Given the description of an element on the screen output the (x, y) to click on. 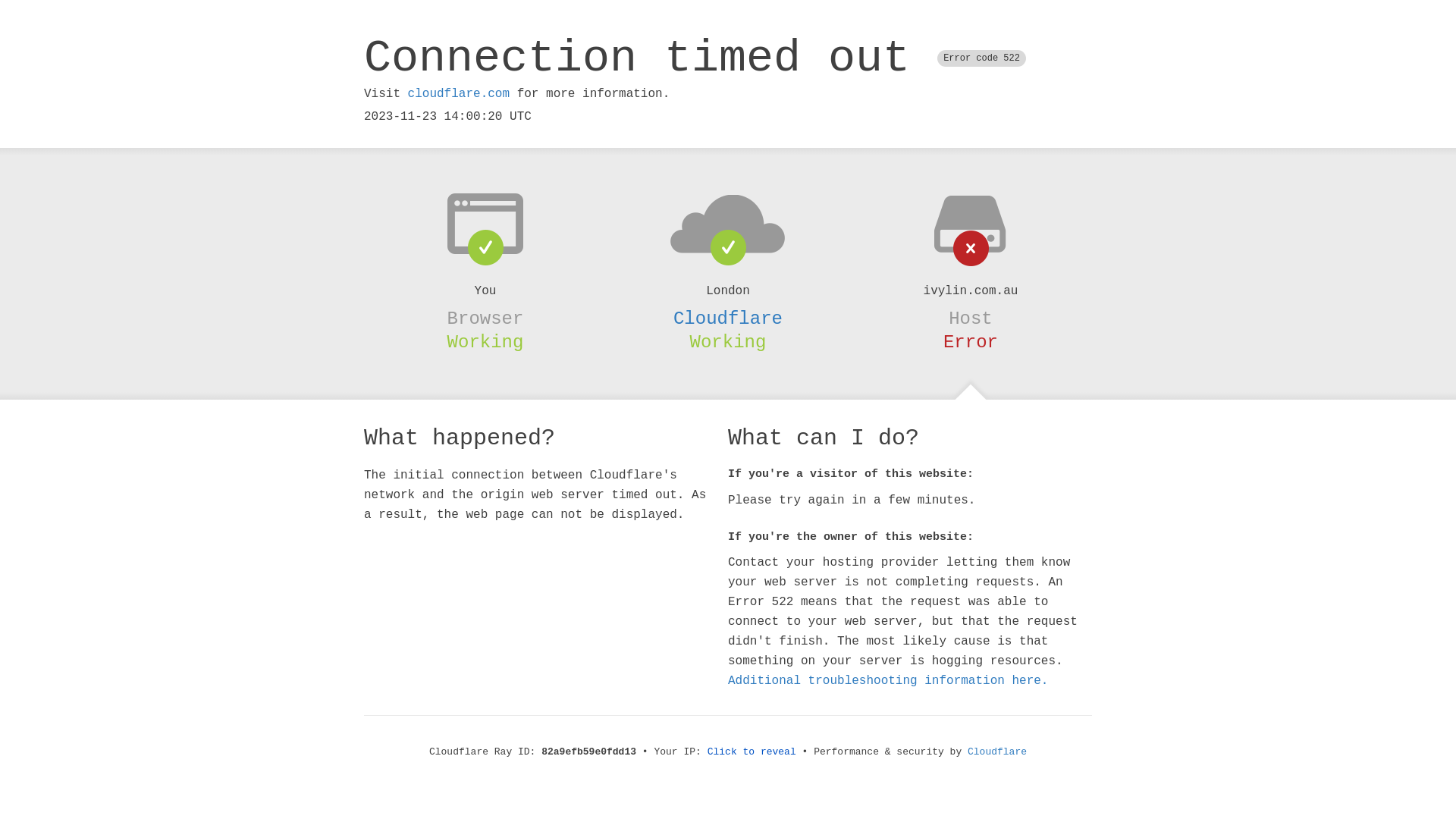
Cloudflare Element type: text (996, 751)
Additional troubleshooting information here. Element type: text (888, 680)
cloudflare.com Element type: text (458, 93)
Click to reveal Element type: text (751, 751)
Cloudflare Element type: text (727, 318)
